Given the description of an element on the screen output the (x, y) to click on. 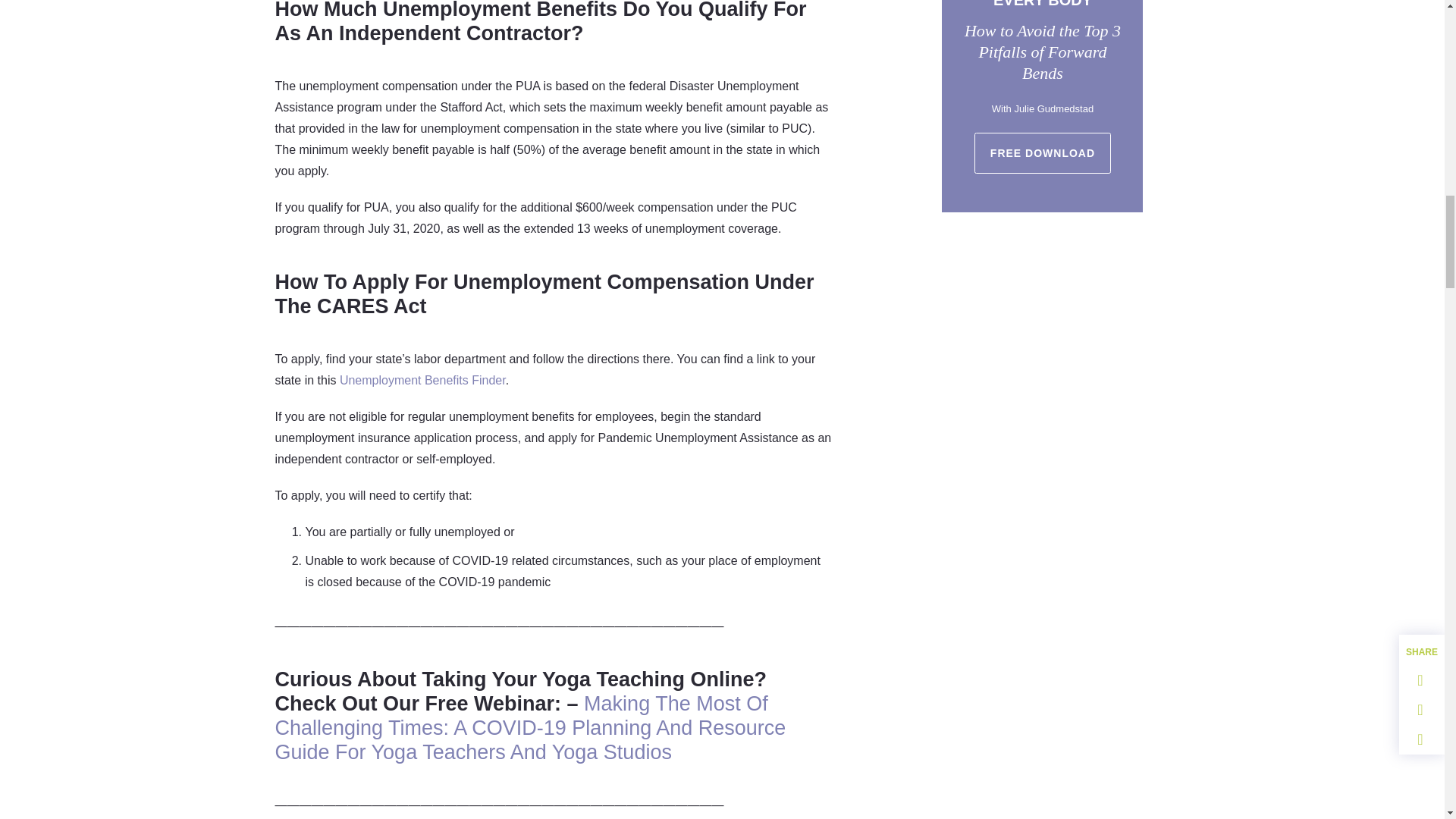
Unemployment Benefits Finder (422, 379)
